Given the description of an element on the screen output the (x, y) to click on. 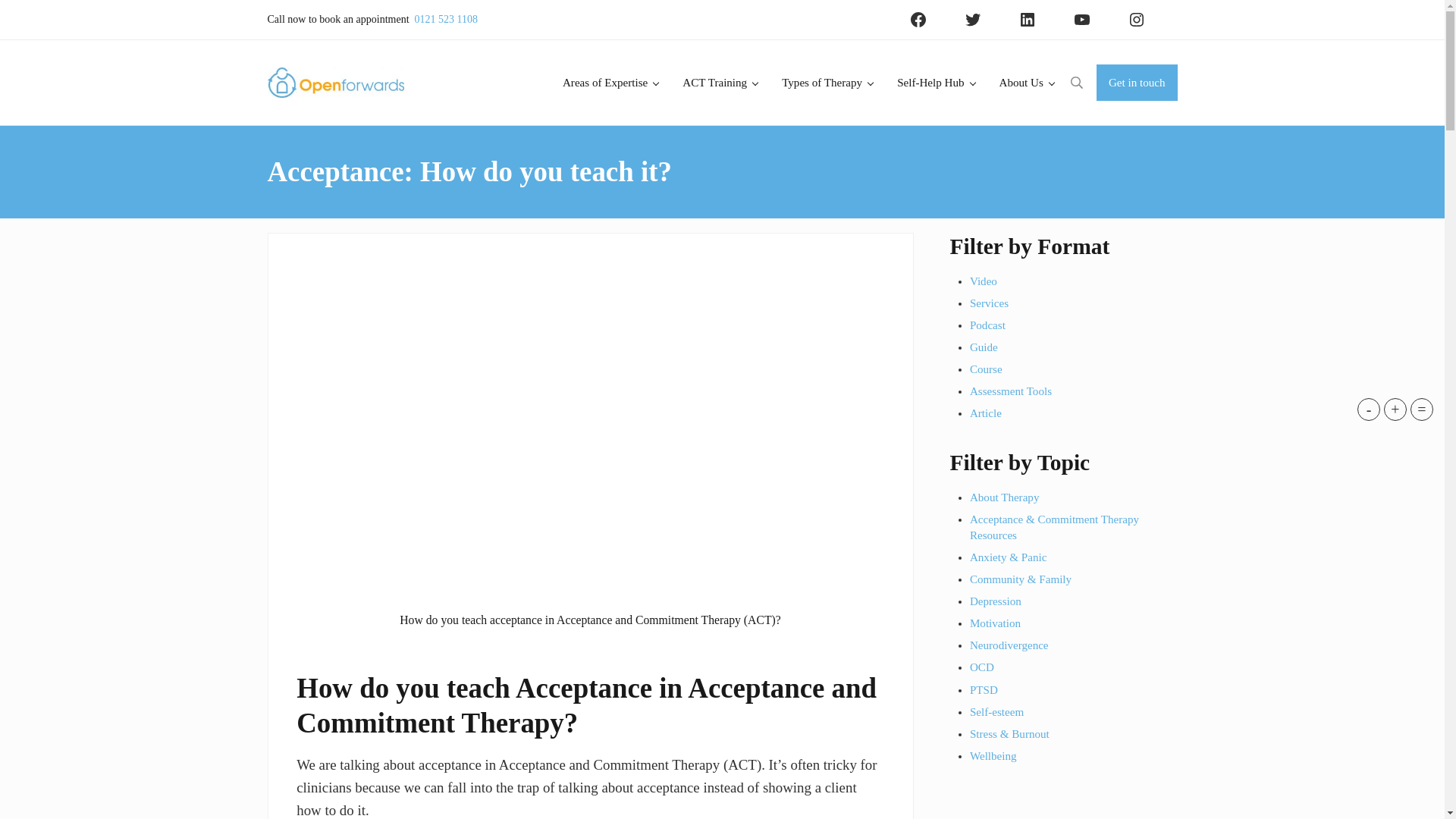
Increase text size (1395, 409)
Areas of Expertise (609, 82)
Facebook (917, 19)
Reset text size (1421, 409)
Decrease text size (1368, 409)
ACT Training (719, 82)
LinkedIn (1027, 19)
